Given the description of an element on the screen output the (x, y) to click on. 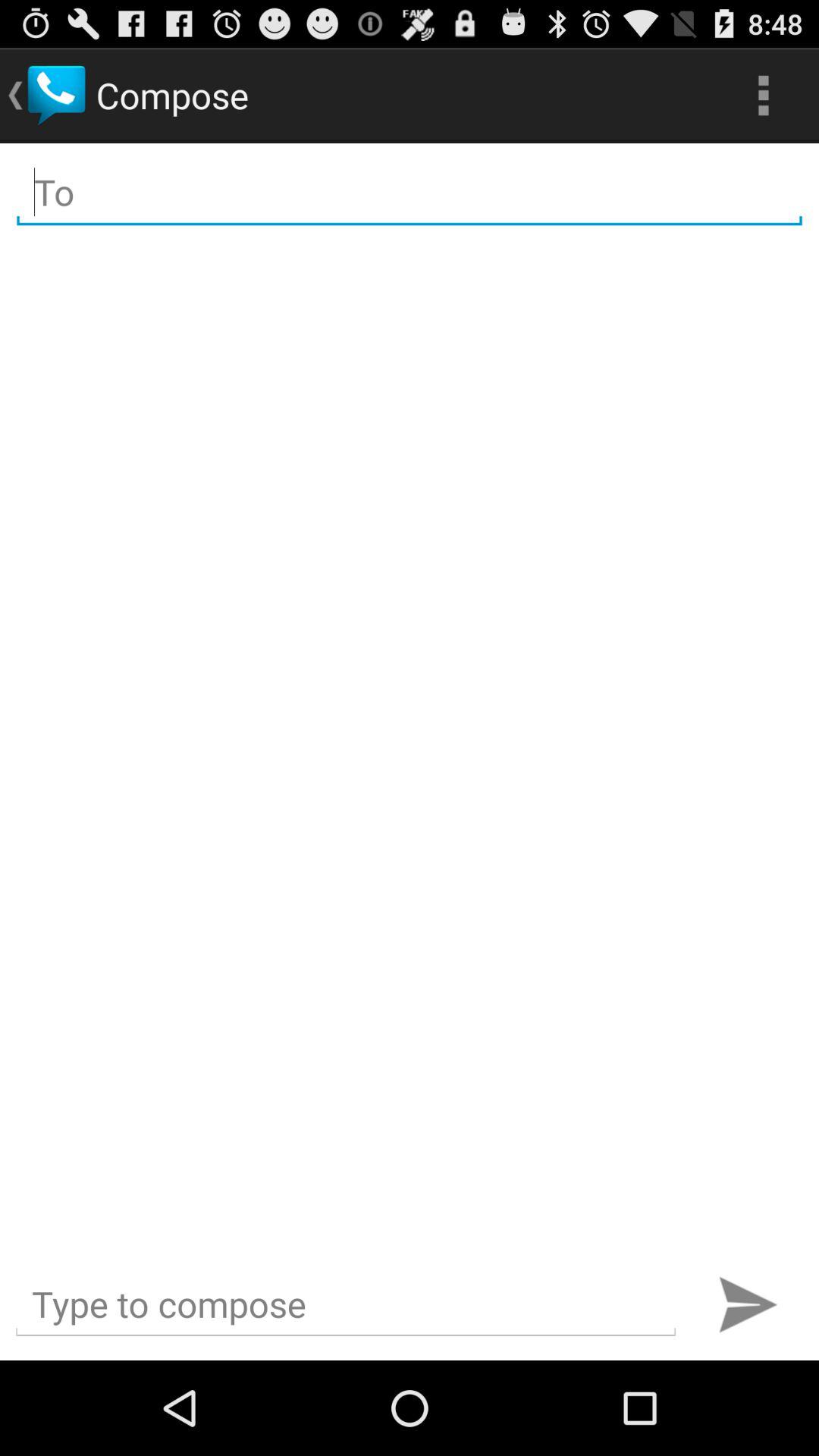
type receiver name (409, 192)
